Given the description of an element on the screen output the (x, y) to click on. 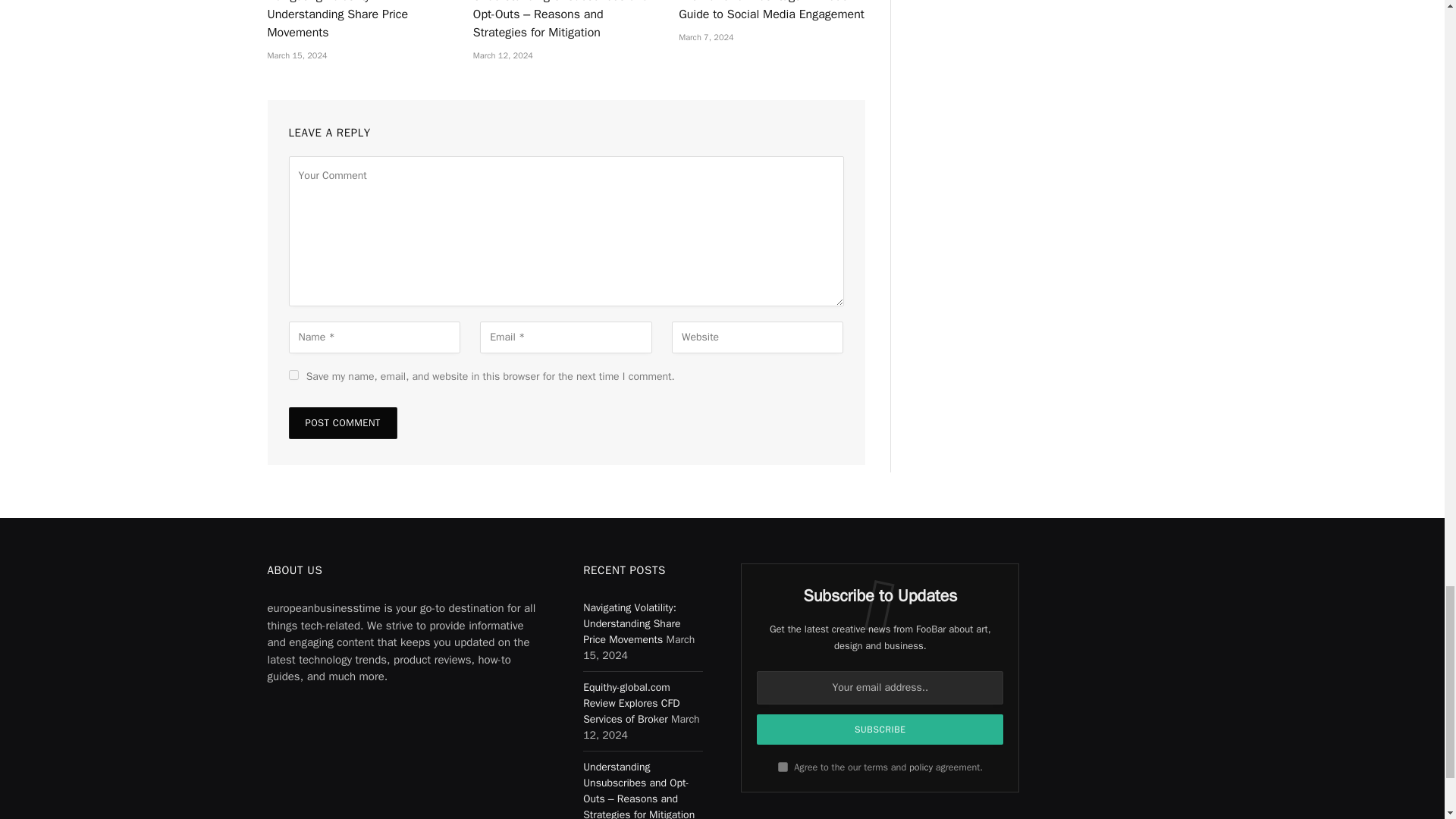
Subscribe (880, 729)
on (782, 767)
Navigating Volatility: Understanding Share Price Movements (359, 20)
yes (293, 375)
Post Comment (342, 422)
Post Comment (342, 422)
